Given the description of an element on the screen output the (x, y) to click on. 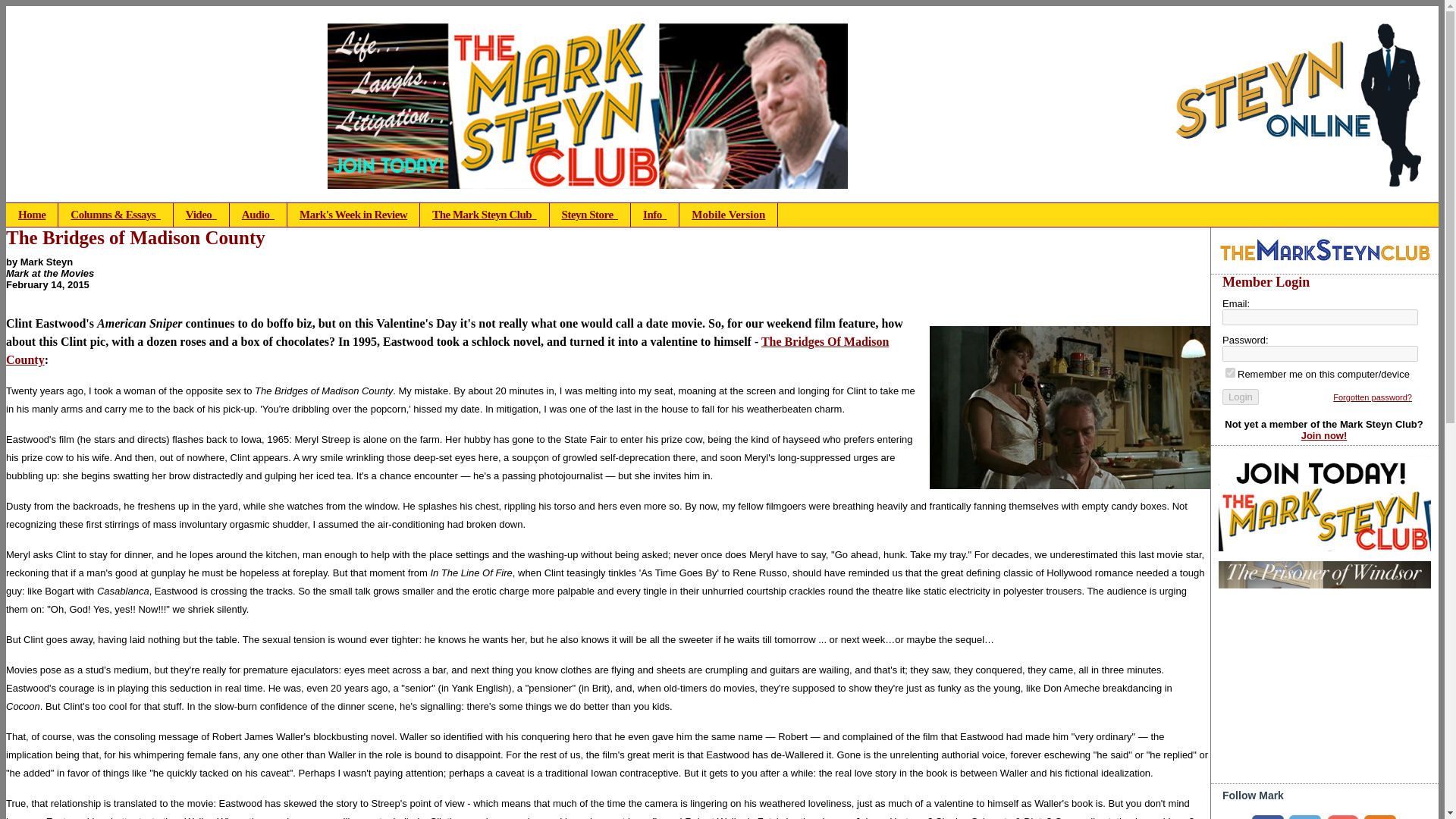
Login (1241, 396)
persist (1229, 372)
Mark's Week in Review (353, 214)
RSS Feed (1380, 816)
Twitter (1304, 816)
Home (31, 214)
Facebook (1268, 816)
Join Mailing List (1342, 816)
